Given the description of an element on the screen output the (x, y) to click on. 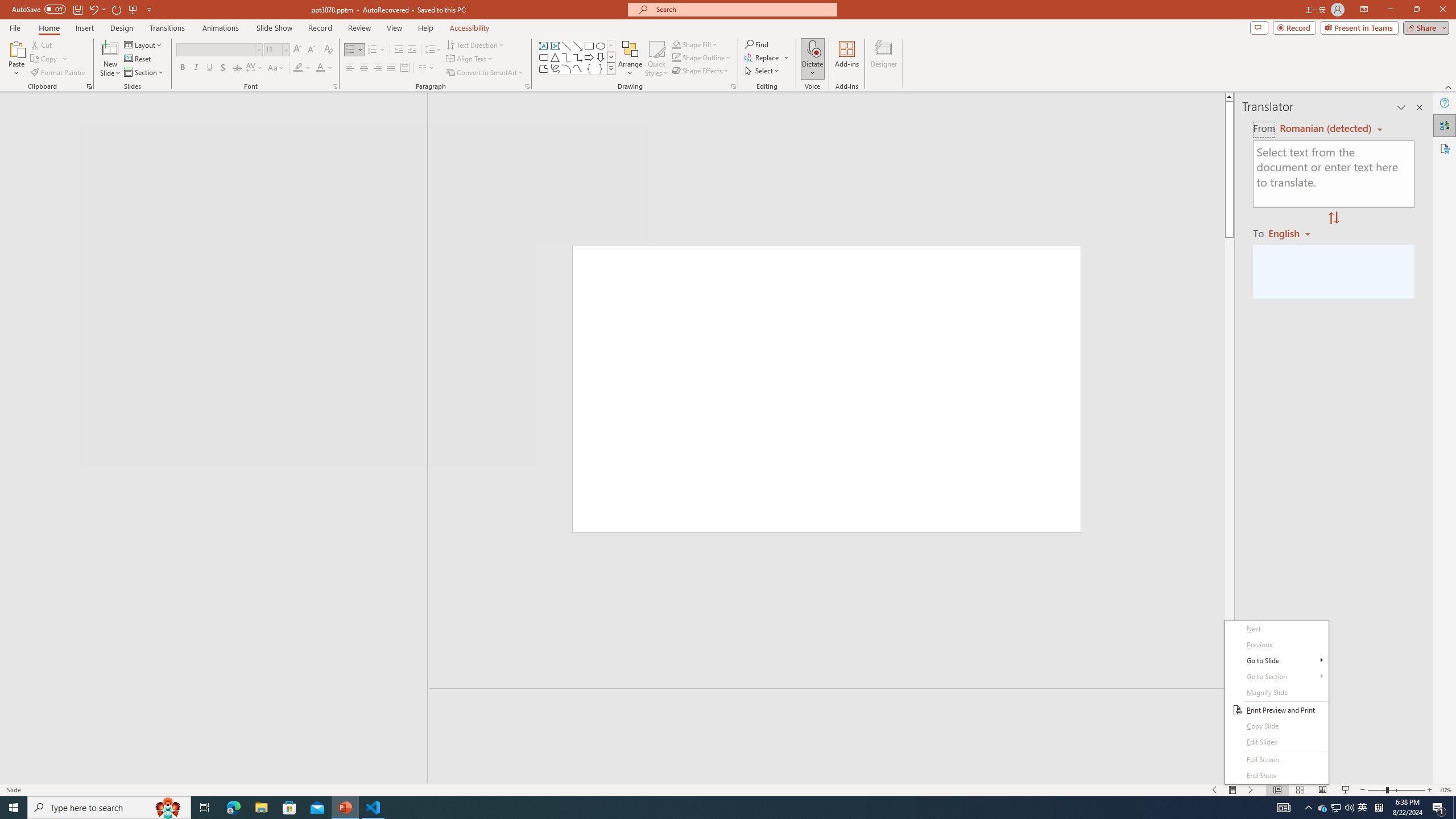
Change Case (276, 67)
Zoom 70% (1445, 790)
Decrease Indent (398, 49)
Reset (138, 58)
Increase Indent (412, 49)
Shape Effects (700, 69)
End Show (1276, 775)
Shape Outline Green, Accent 1 (675, 56)
Font Color Red (320, 67)
